Given the description of an element on the screen output the (x, y) to click on. 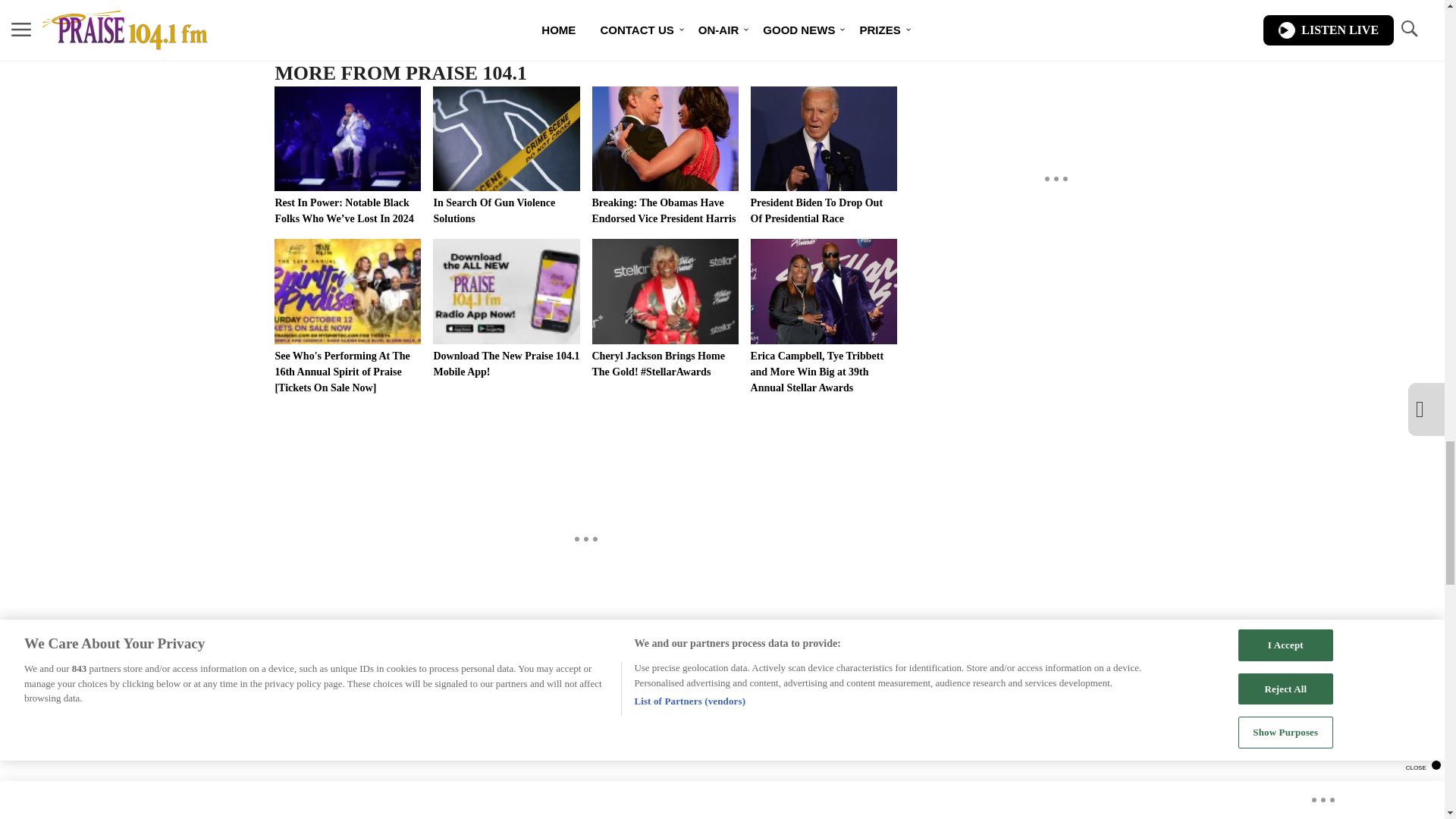
Vuukle Comments Widget (585, 750)
